Given the description of an element on the screen output the (x, y) to click on. 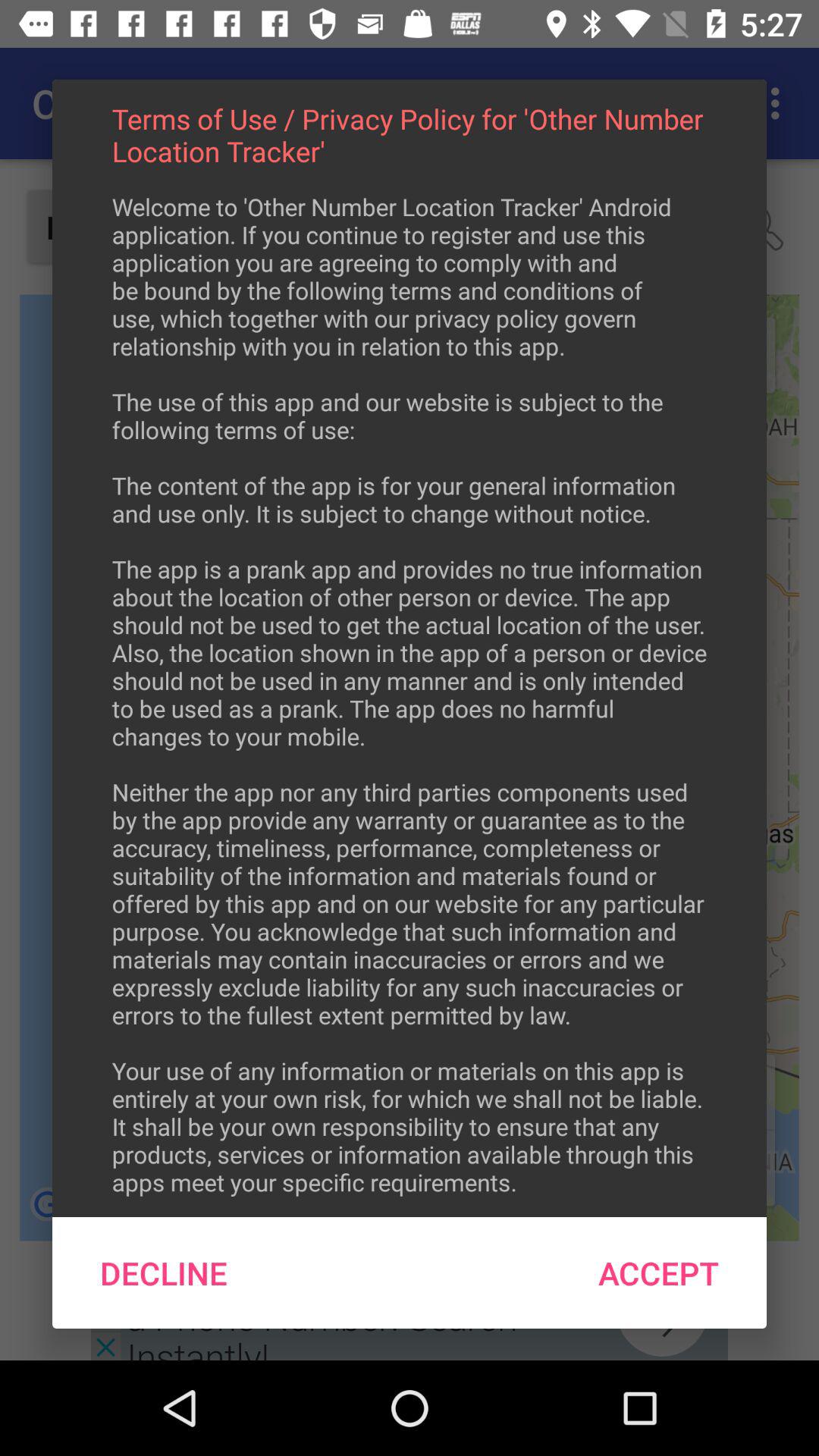
choose icon next to the decline icon (658, 1272)
